Given the description of an element on the screen output the (x, y) to click on. 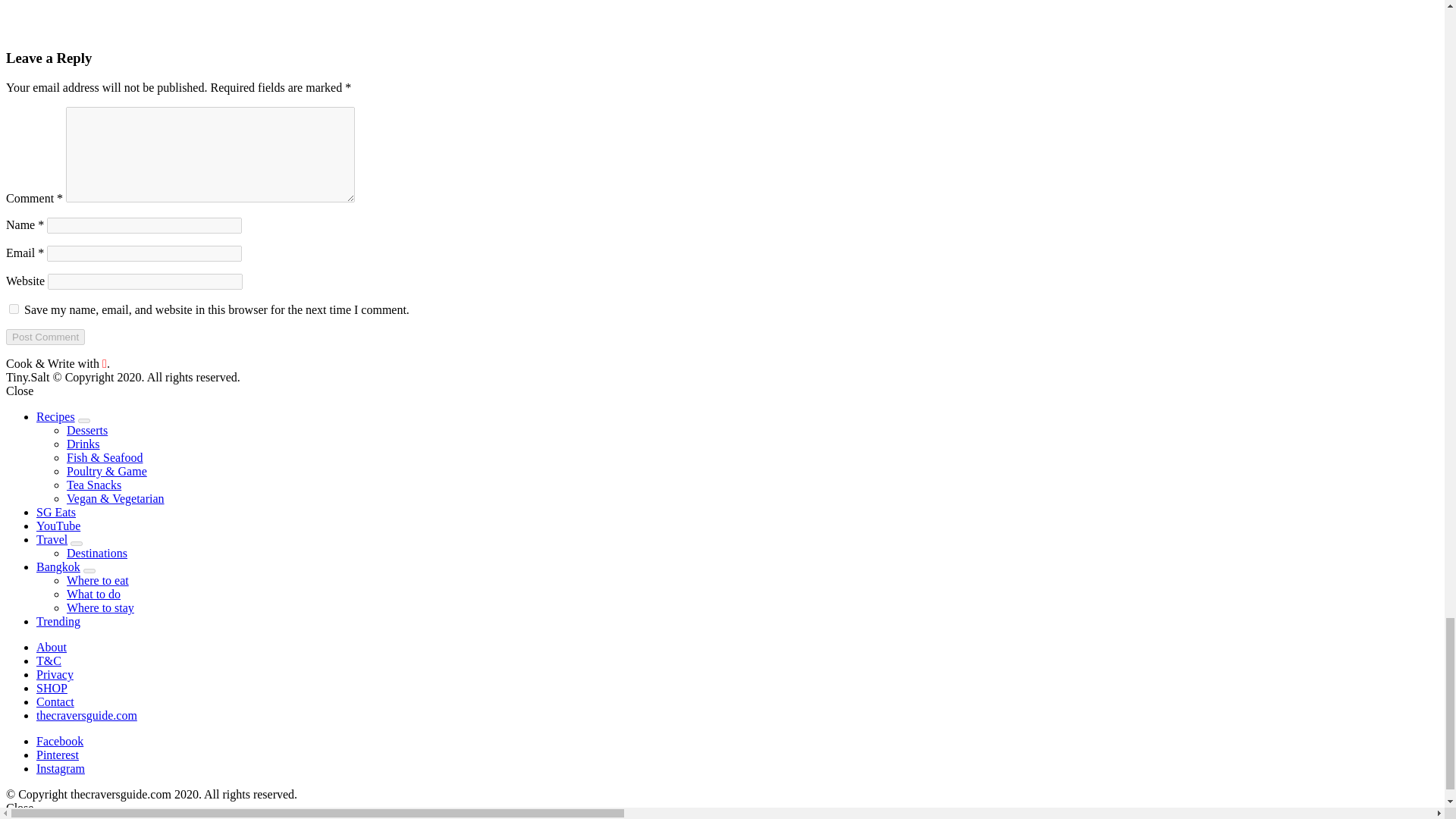
Post Comment (44, 336)
yes (13, 308)
